Given the description of an element on the screen output the (x, y) to click on. 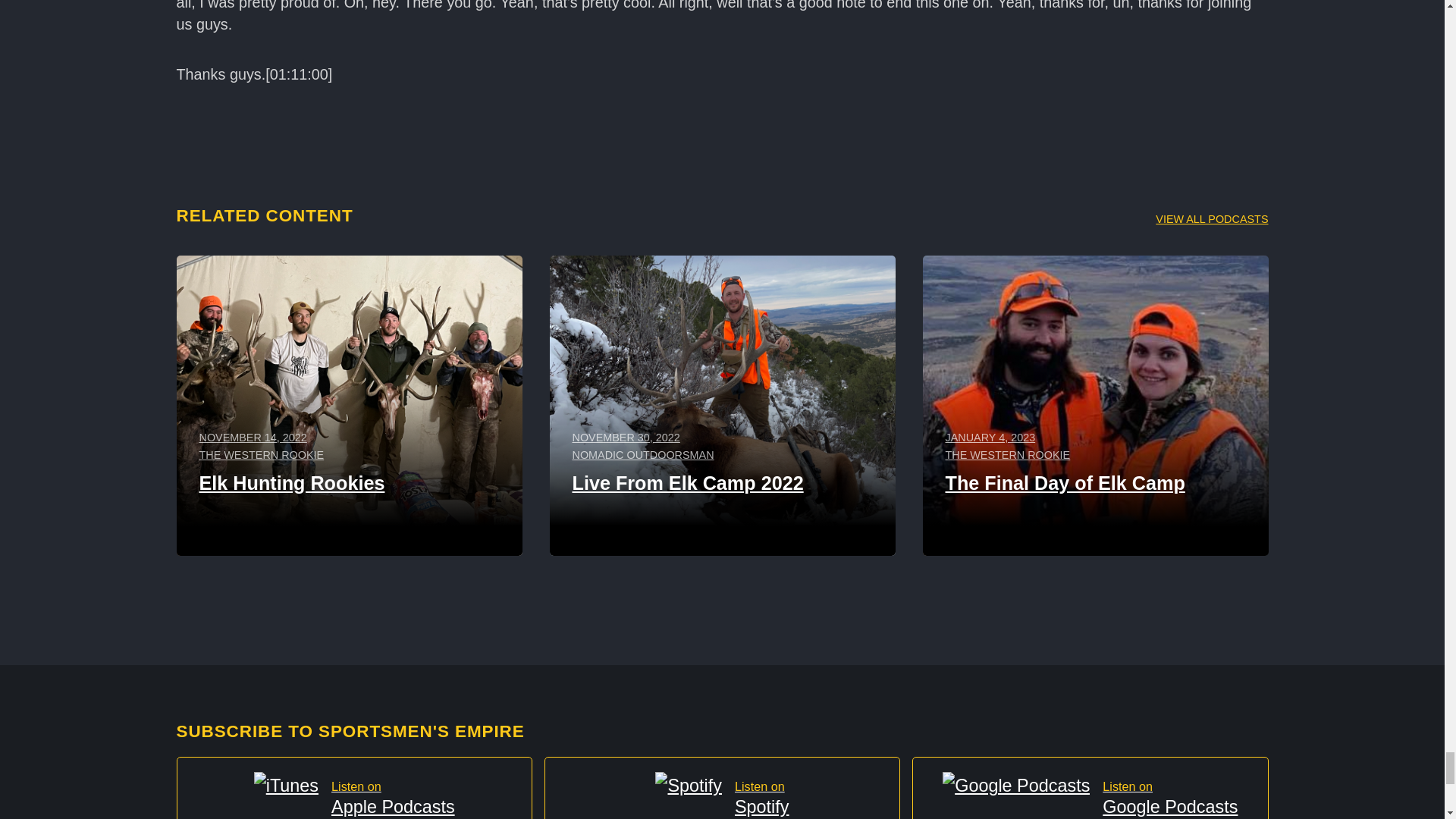
VIEW ALL PODCASTS (721, 787)
